Given the description of an element on the screen output the (x, y) to click on. 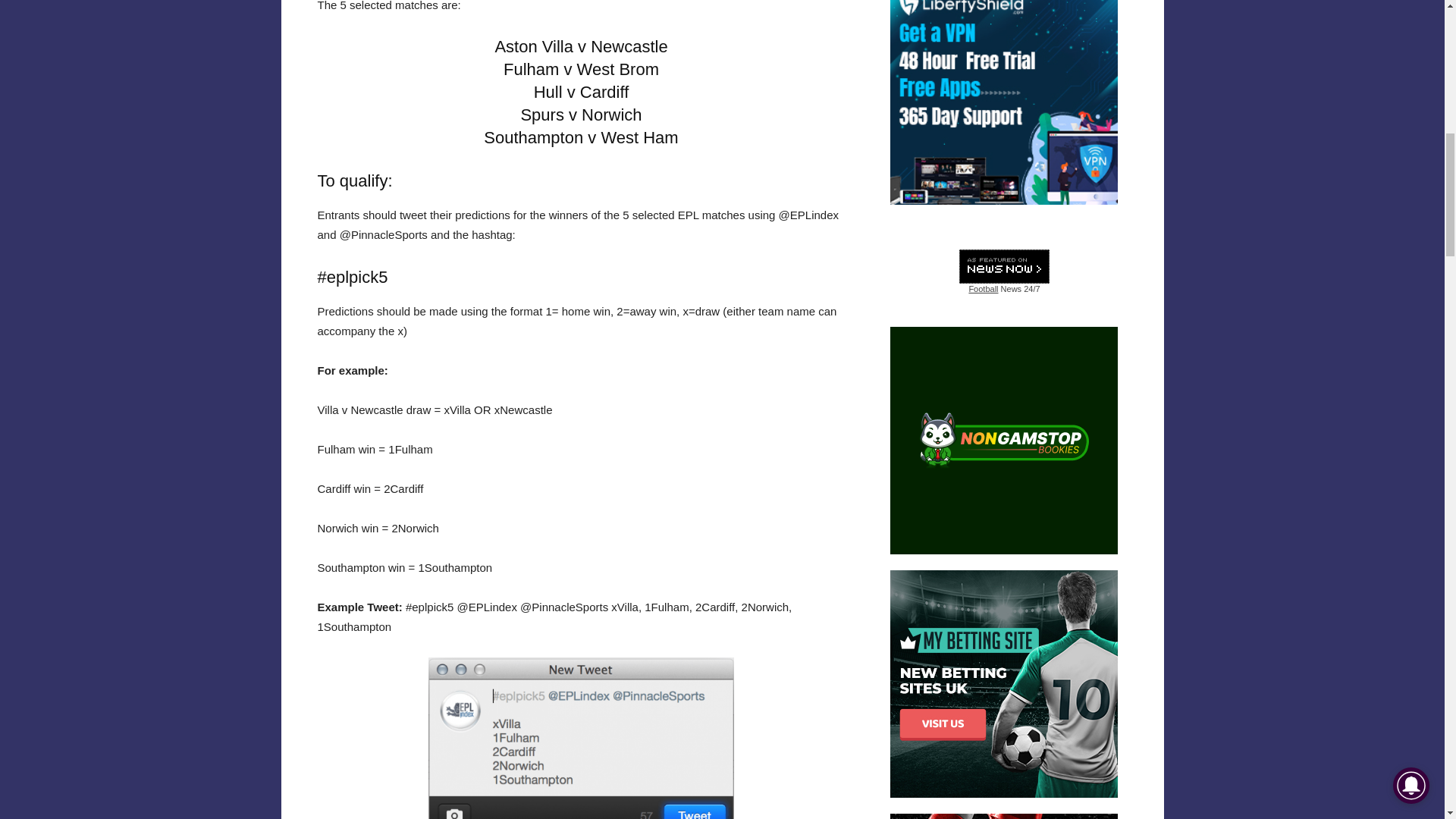
New UK Betting sites (1003, 683)
Non-GamStop Betting Sites in the UK (1003, 440)
online sports betting at Betiton UK (1003, 816)
Click here for more Football news from NewsNow (1004, 271)
